Given the description of an element on the screen output the (x, y) to click on. 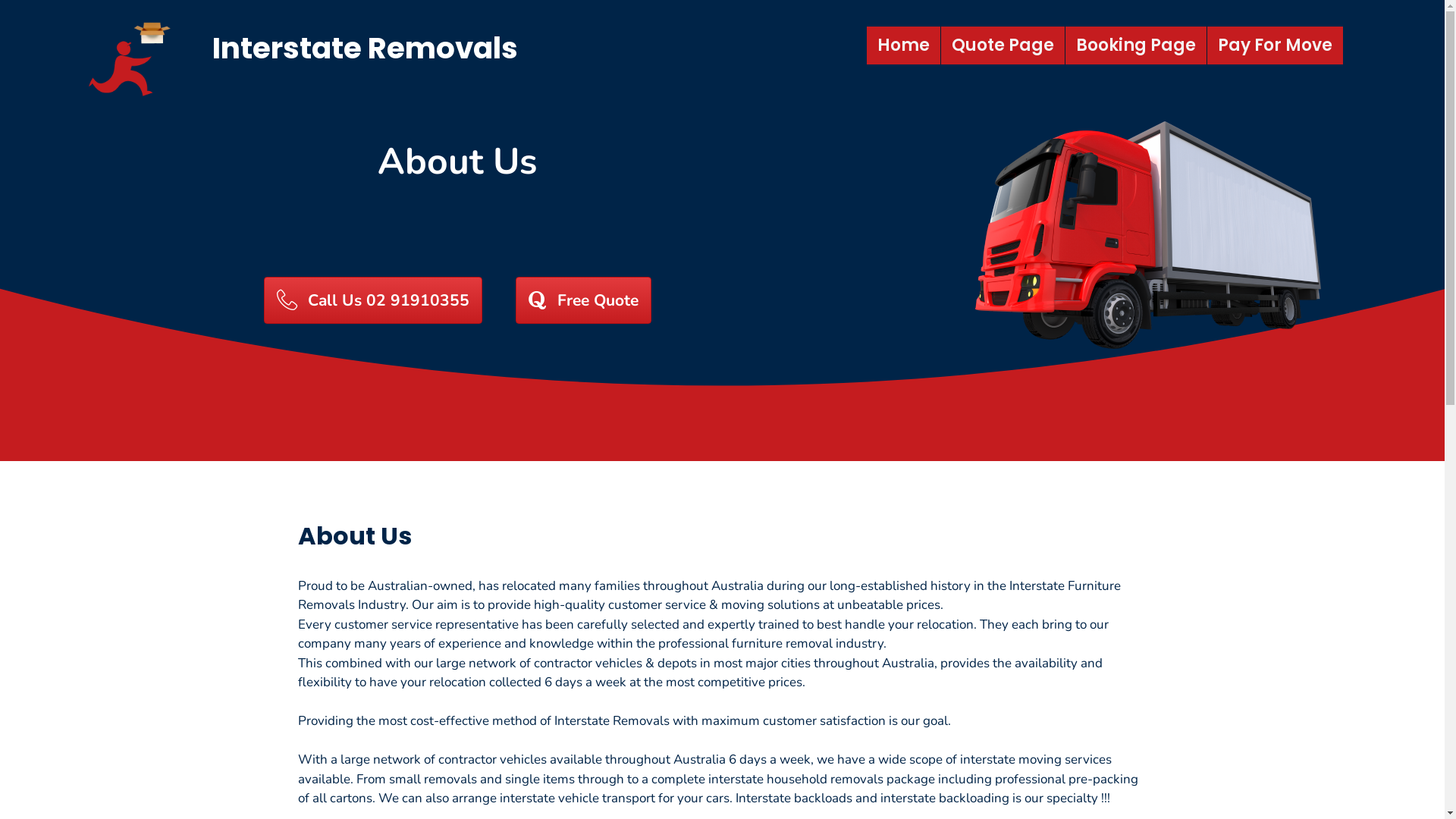
Free Quote Element type: text (583, 299)
Call Us 02 91910355 Element type: text (372, 299)
Pay For Move Element type: text (1275, 45)
Home Element type: text (903, 45)
Interstate Removas Logo final Element type: hover (130, 55)
Booking Page Element type: text (1135, 45)
Quote Page Element type: text (1002, 45)
the truck Element type: hover (1164, 234)
